Given the description of an element on the screen output the (x, y) to click on. 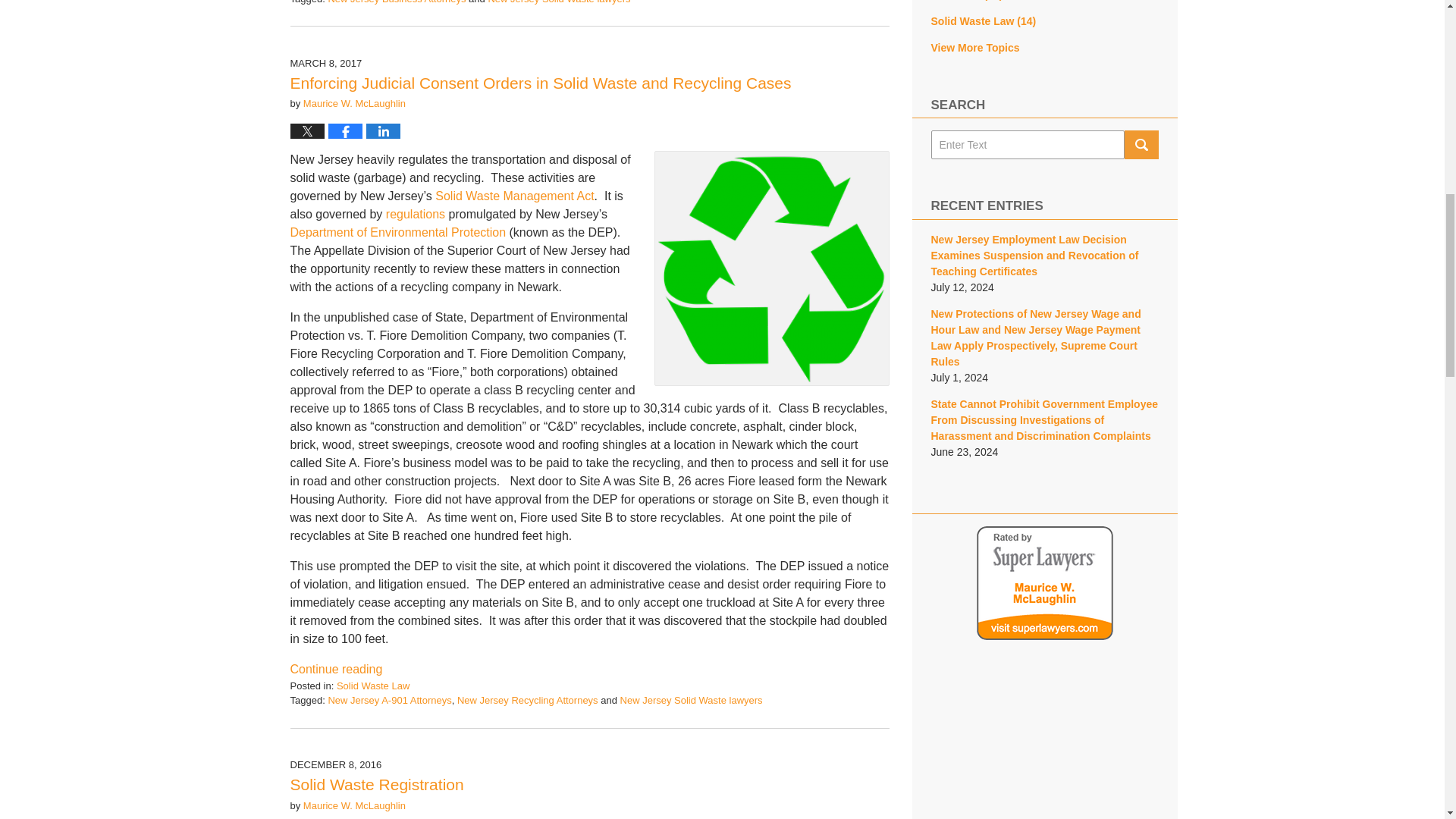
Permalink to Solid Waste Registration (376, 784)
View all posts tagged with New Jersey A-901 Attorneys (389, 699)
New Jersey Solid Waste lawyers (558, 2)
View all posts tagged with New Jersey Solid Waste lawyers (558, 2)
View all posts tagged with New Jersey Recycling Attorneys (527, 699)
View all posts tagged with New Jersey Solid Waste lawyers (691, 699)
Solid Waste Management Act (514, 195)
Department of Environmental Protection (397, 232)
Maurice W. McLaughlin (354, 102)
regulations (415, 214)
View all posts in Solid Waste Law (372, 685)
View all posts tagged with New Jersey Business Attorneys (396, 2)
